Given the description of an element on the screen output the (x, y) to click on. 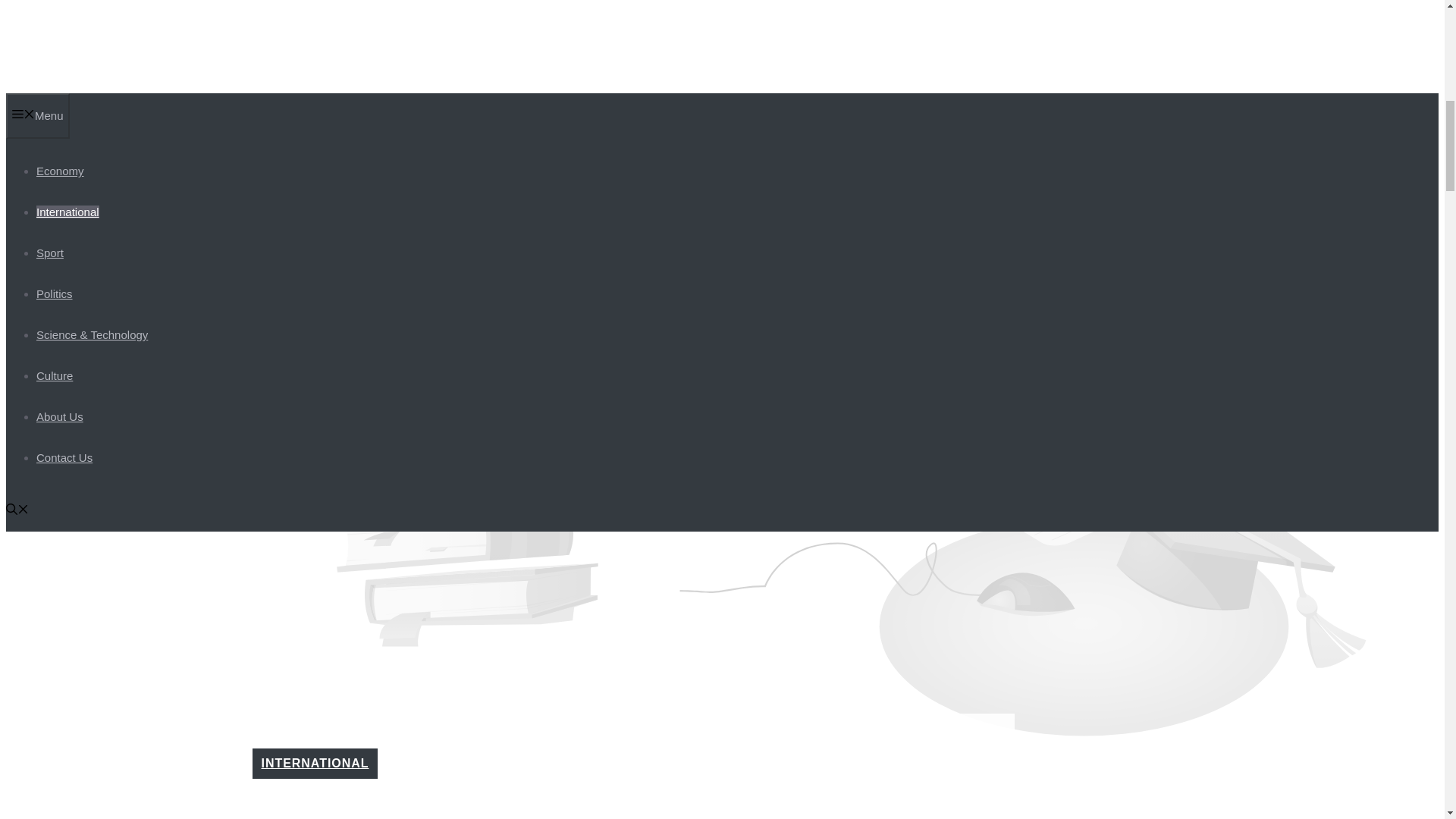
Sport (50, 252)
Contact Us (64, 457)
INTERNATIONAL (314, 762)
Scroll back to top (1406, 720)
Menu (37, 115)
Economy (60, 170)
Politics (54, 293)
About Us (59, 416)
International (67, 211)
Culture (54, 375)
